Given the description of an element on the screen output the (x, y) to click on. 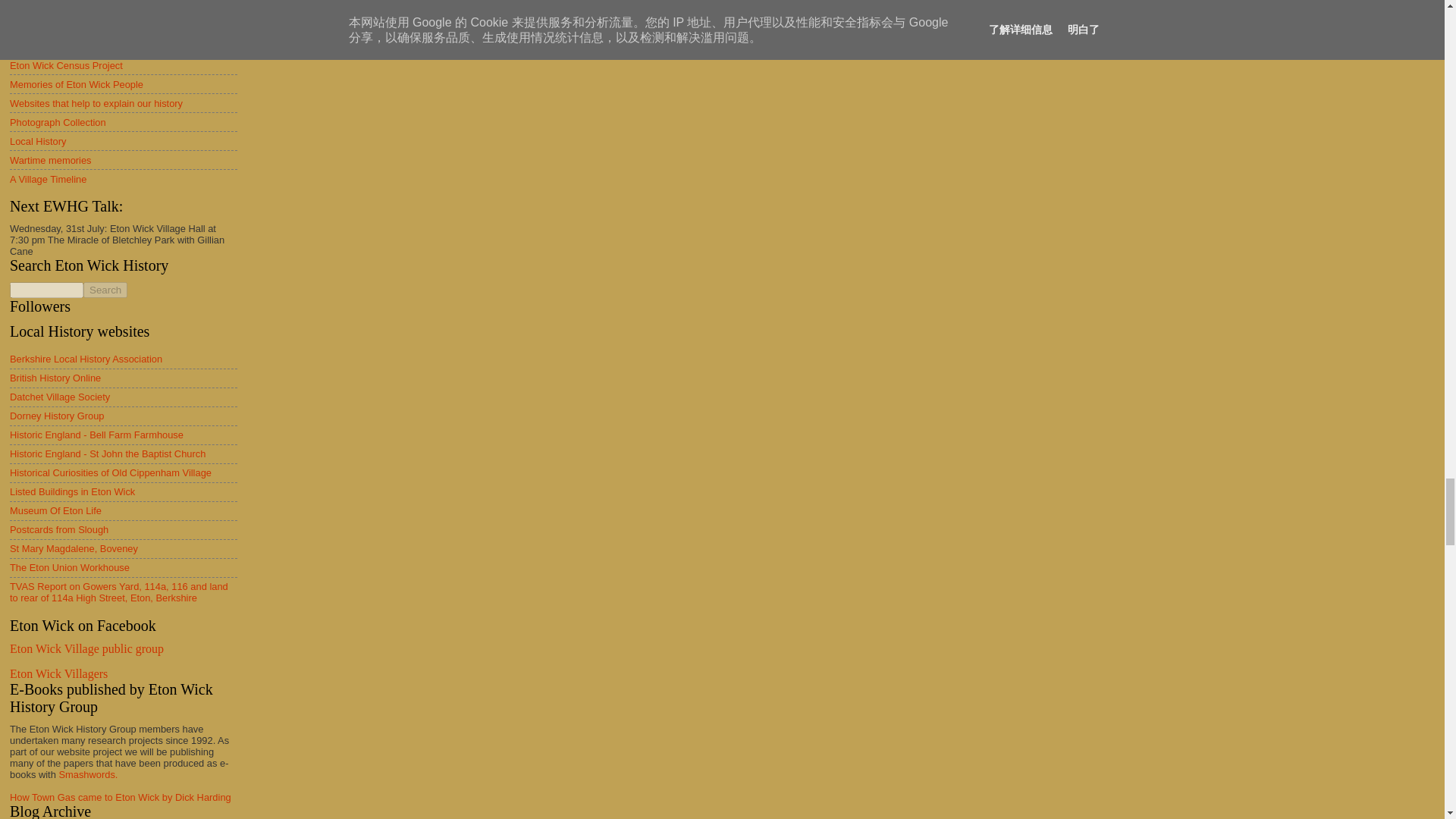
Search (105, 289)
Search (105, 289)
